Given the description of an element on the screen output the (x, y) to click on. 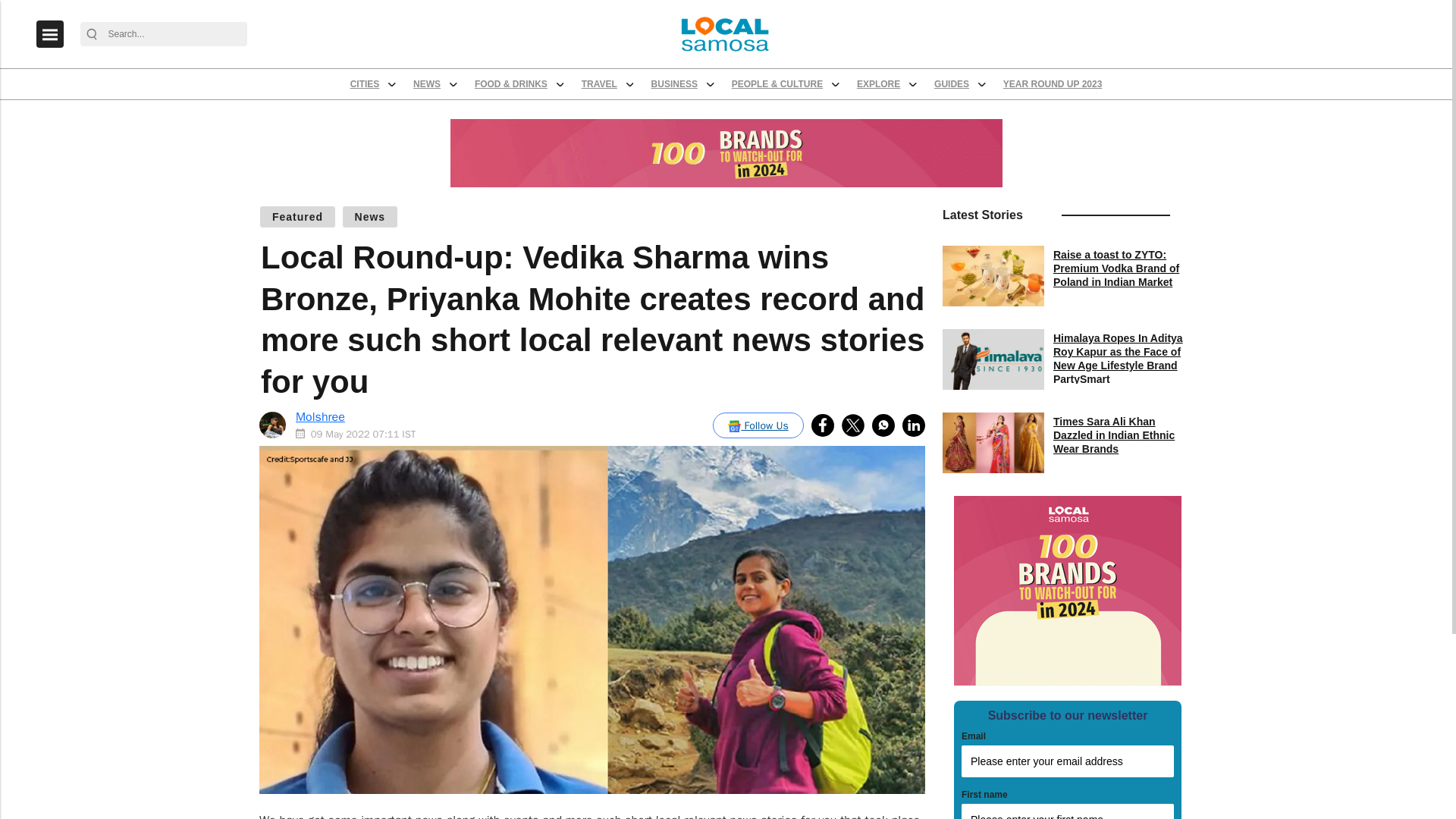
NEWS (533, 105)
TRAVEL (748, 105)
CITIES (455, 105)
